Given the description of an element on the screen output the (x, y) to click on. 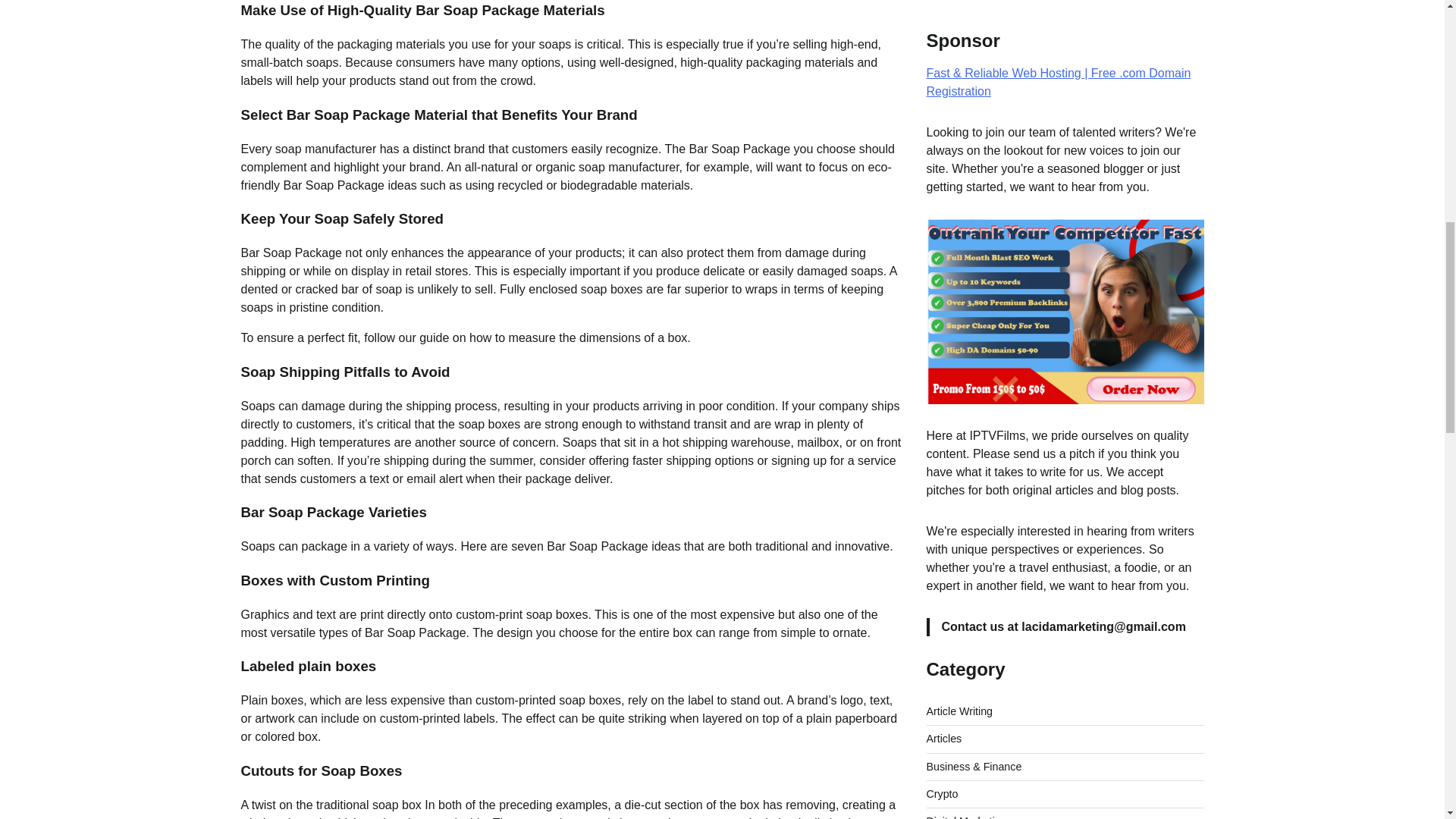
Subscribe (1150, 808)
